Given the description of an element on the screen output the (x, y) to click on. 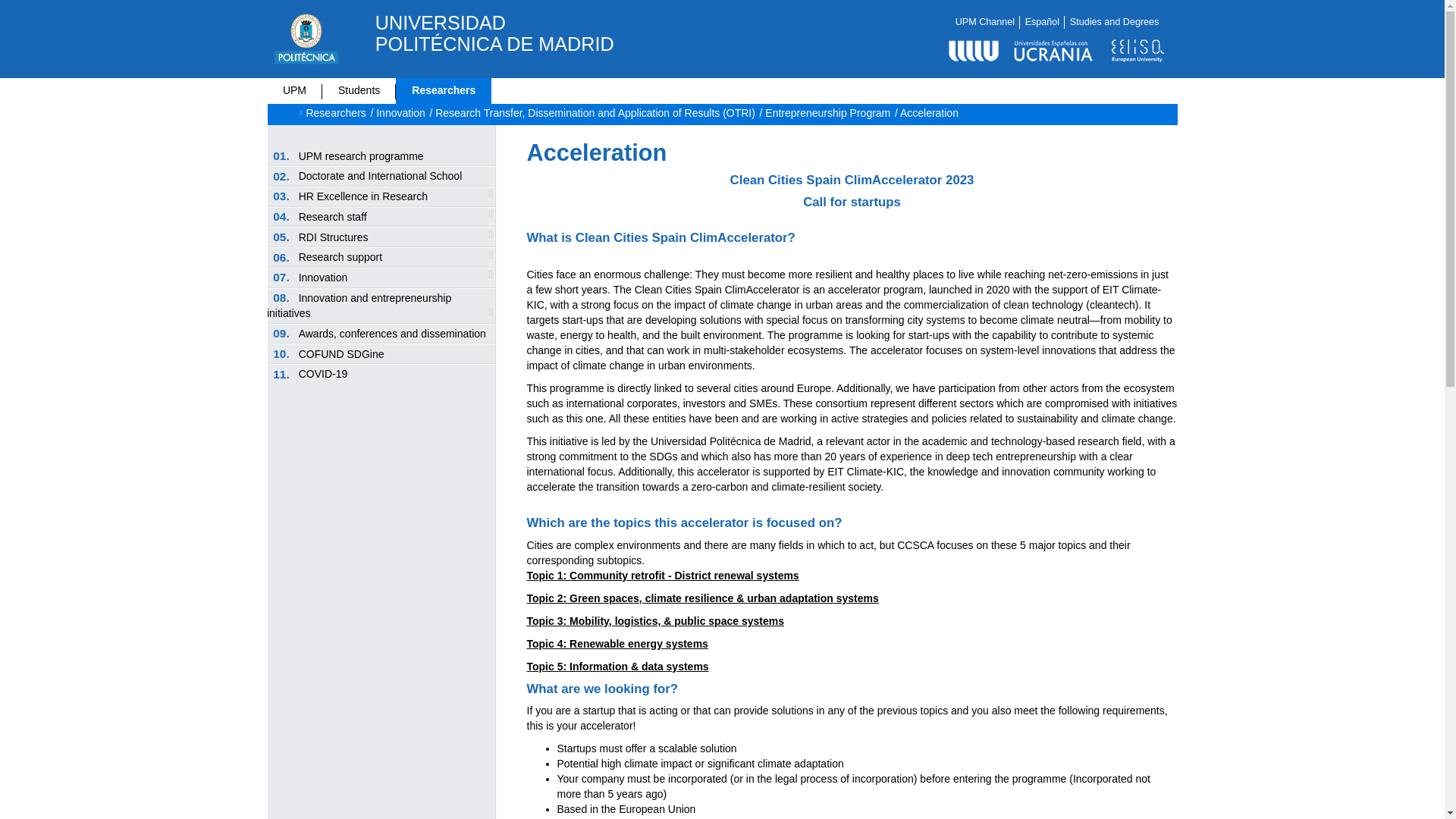
Studies and Degrees (1114, 21)
Students (358, 90)
UPM (293, 90)
Researchers (444, 90)
UPM Channel (984, 21)
